Given the description of an element on the screen output the (x, y) to click on. 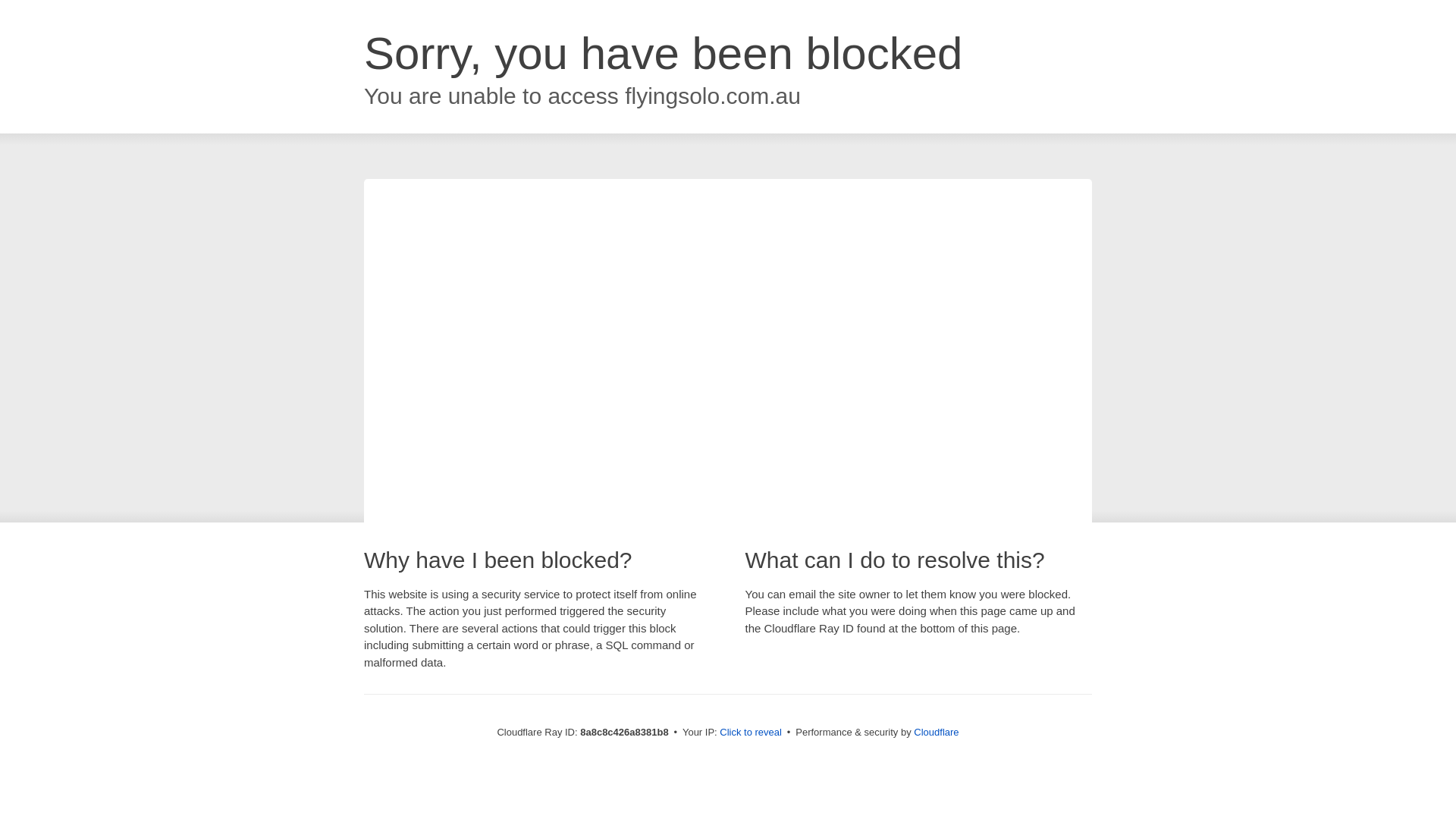
Cloudflare (936, 731)
Click to reveal (750, 732)
